Given the description of an element on the screen output the (x, y) to click on. 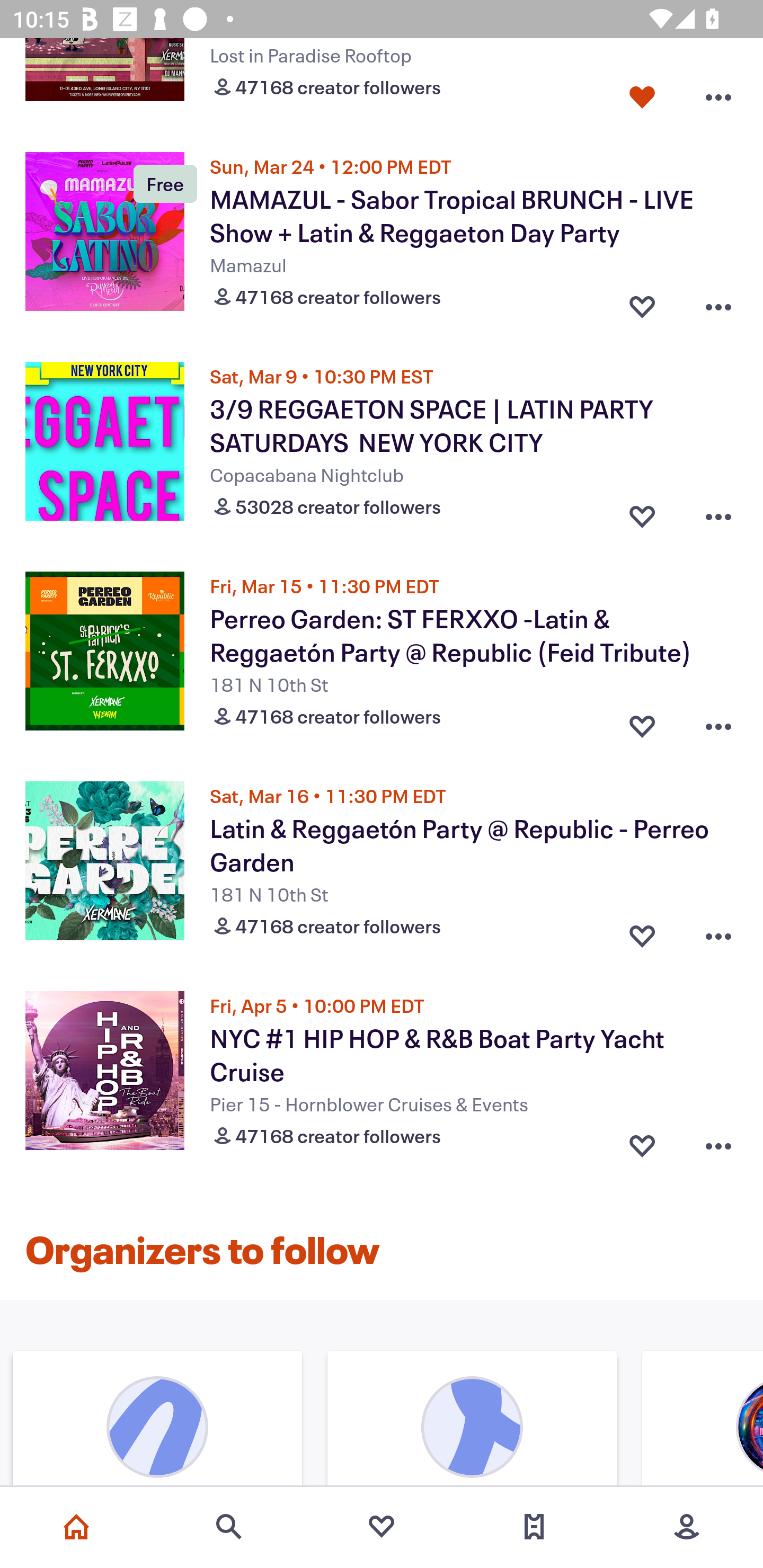
Favorite button (642, 93)
Overflow menu button (718, 93)
Favorite button (642, 303)
Overflow menu button (718, 303)
Favorite button (642, 511)
Overflow menu button (718, 511)
Favorite button (642, 721)
Overflow menu button (718, 721)
Favorite button (642, 931)
Overflow menu button (718, 931)
Favorite button (642, 1142)
Overflow menu button (718, 1142)
Organizer's image Frankie Banks (157, 1420)
Organizer's image Tinna L. (471, 1420)
Home (76, 1526)
Search events (228, 1526)
Favorites (381, 1526)
Tickets (533, 1526)
More (686, 1526)
